Given the description of an element on the screen output the (x, y) to click on. 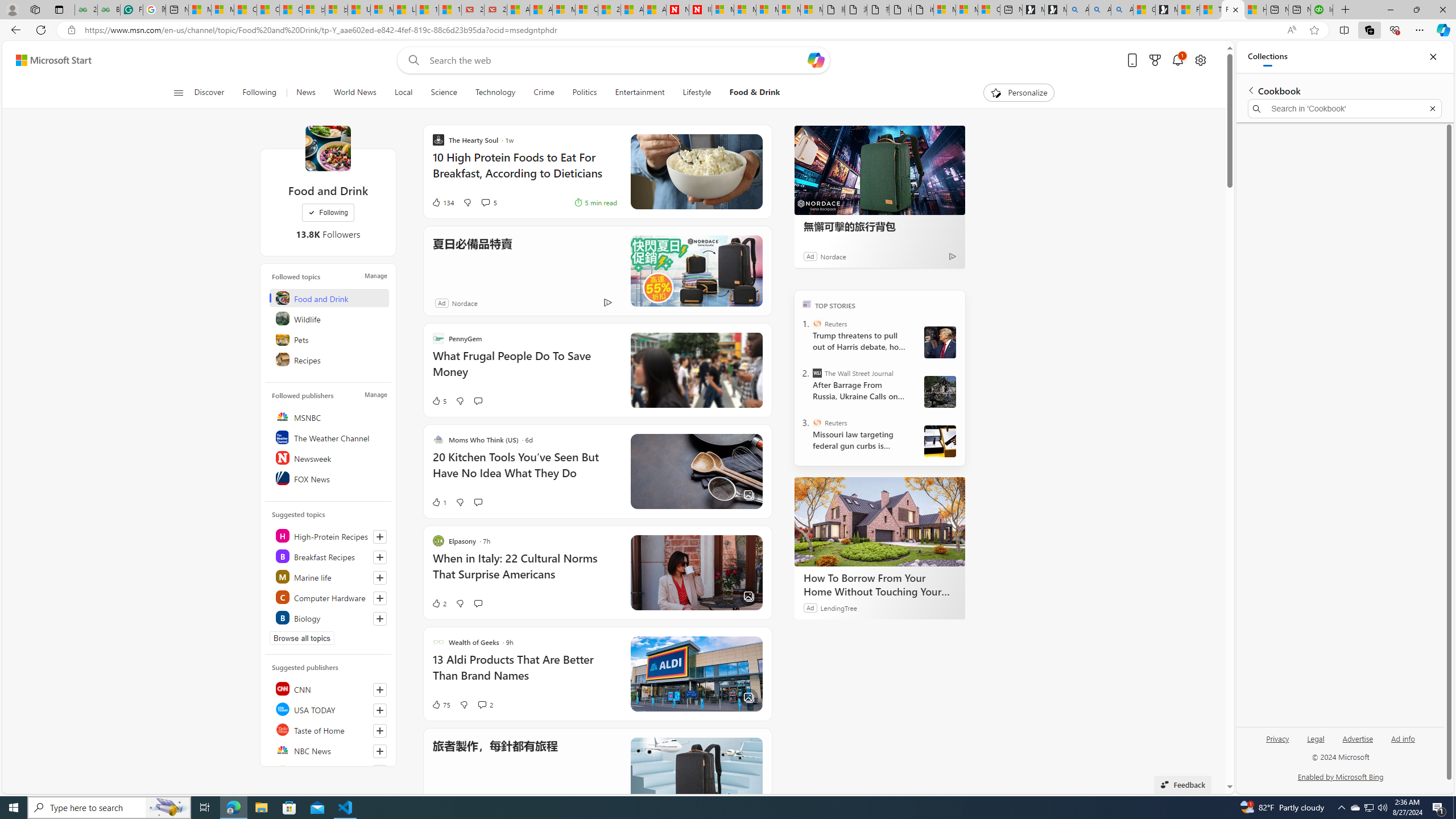
Workspaces (34, 9)
TOP (806, 302)
Open Copilot (816, 59)
Back to list of collections (1250, 90)
New tab (1300, 9)
Class: highlight (328, 617)
Recipes (328, 359)
LendingTree (838, 607)
Privacy (1278, 738)
View site information (70, 29)
When in Italy: 22 Cultural Norms That Surprise Americans (524, 572)
MSNBC (328, 416)
Entertainment (639, 92)
